Given the description of an element on the screen output the (x, y) to click on. 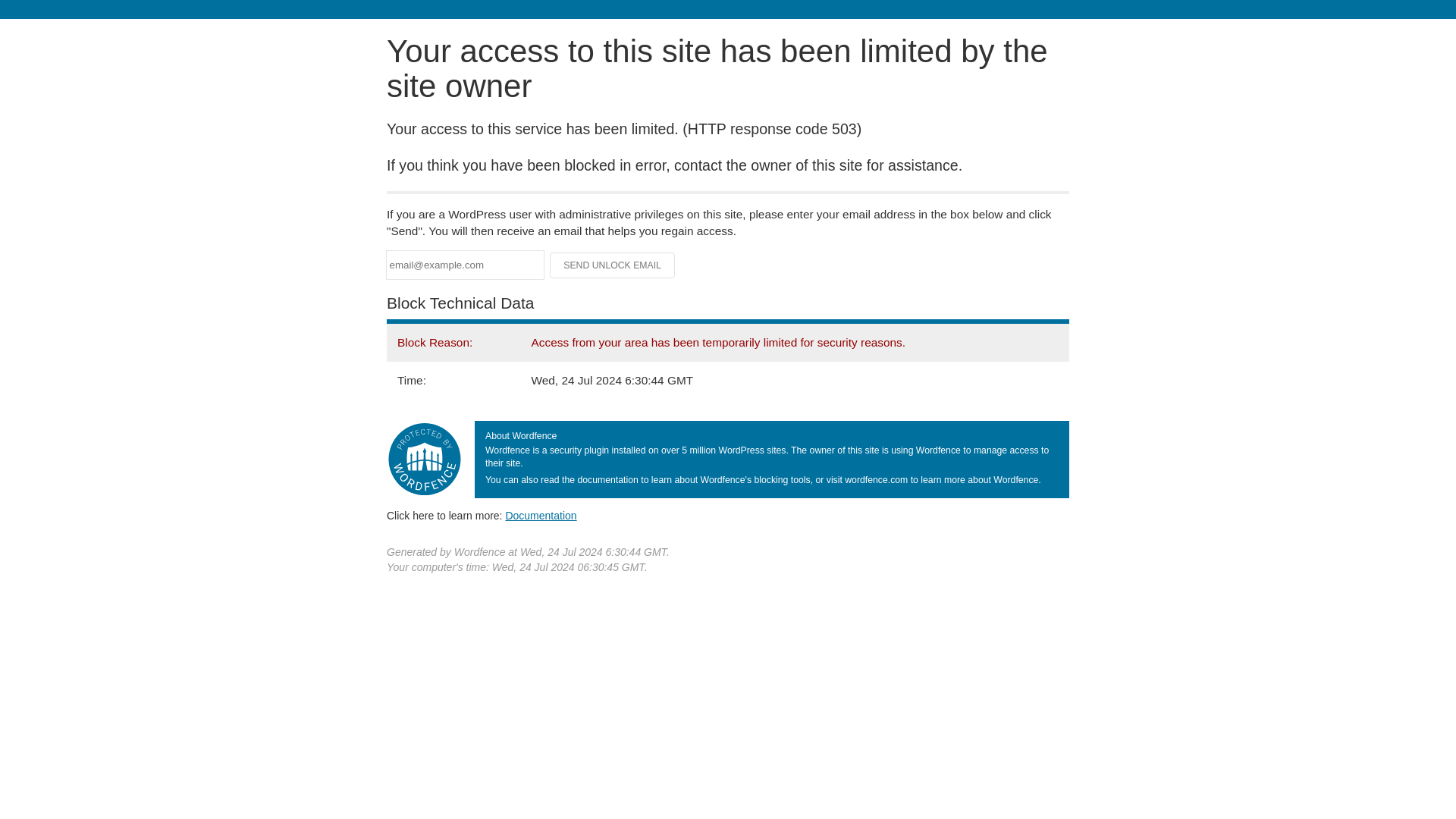
Documentation (540, 515)
Send Unlock Email (612, 265)
Send Unlock Email (612, 265)
